Given the description of an element on the screen output the (x, y) to click on. 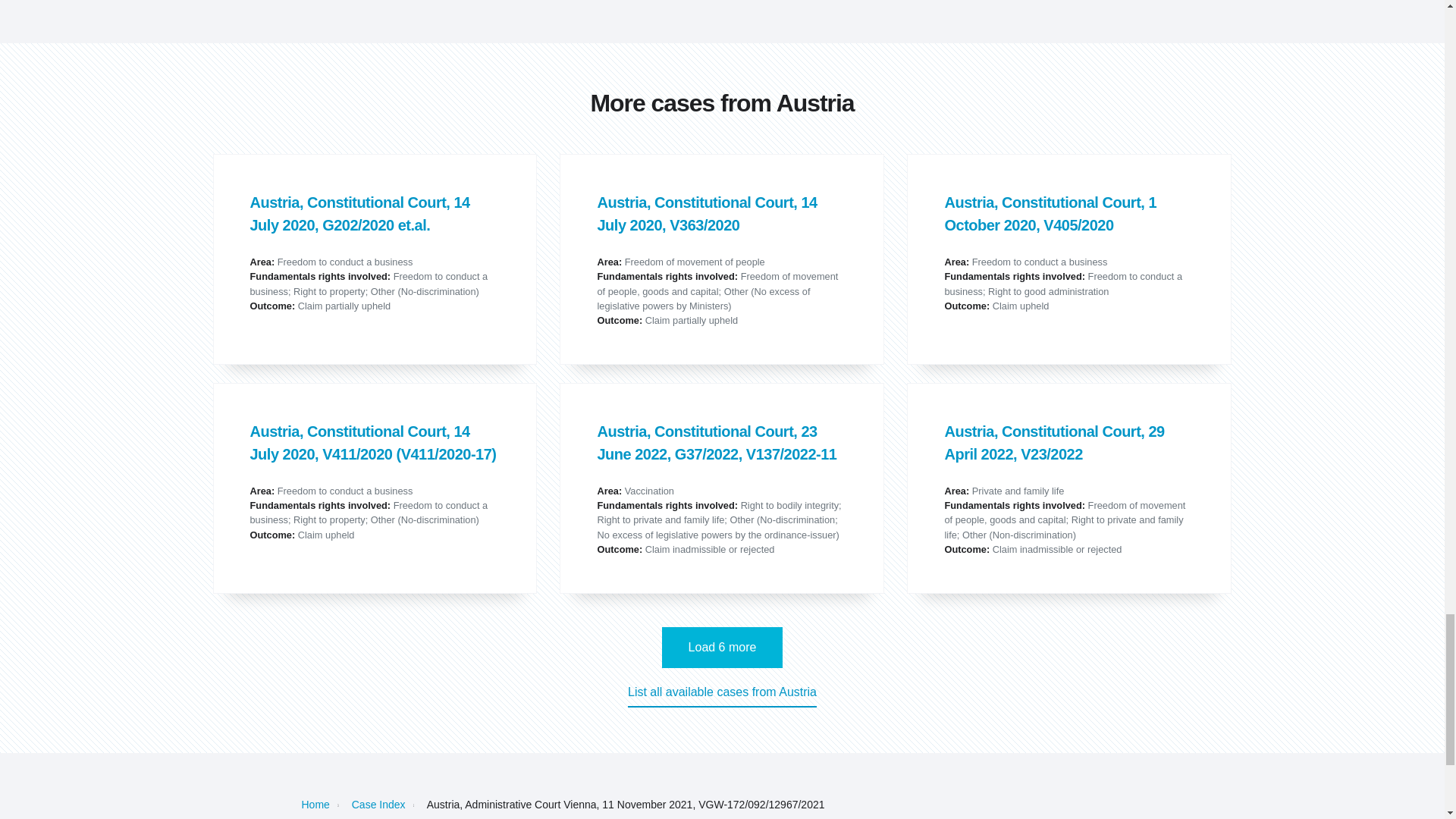
List all available cases from Austria (721, 695)
Go to next page (722, 647)
Load 6 more (722, 647)
